Given the description of an element on the screen output the (x, y) to click on. 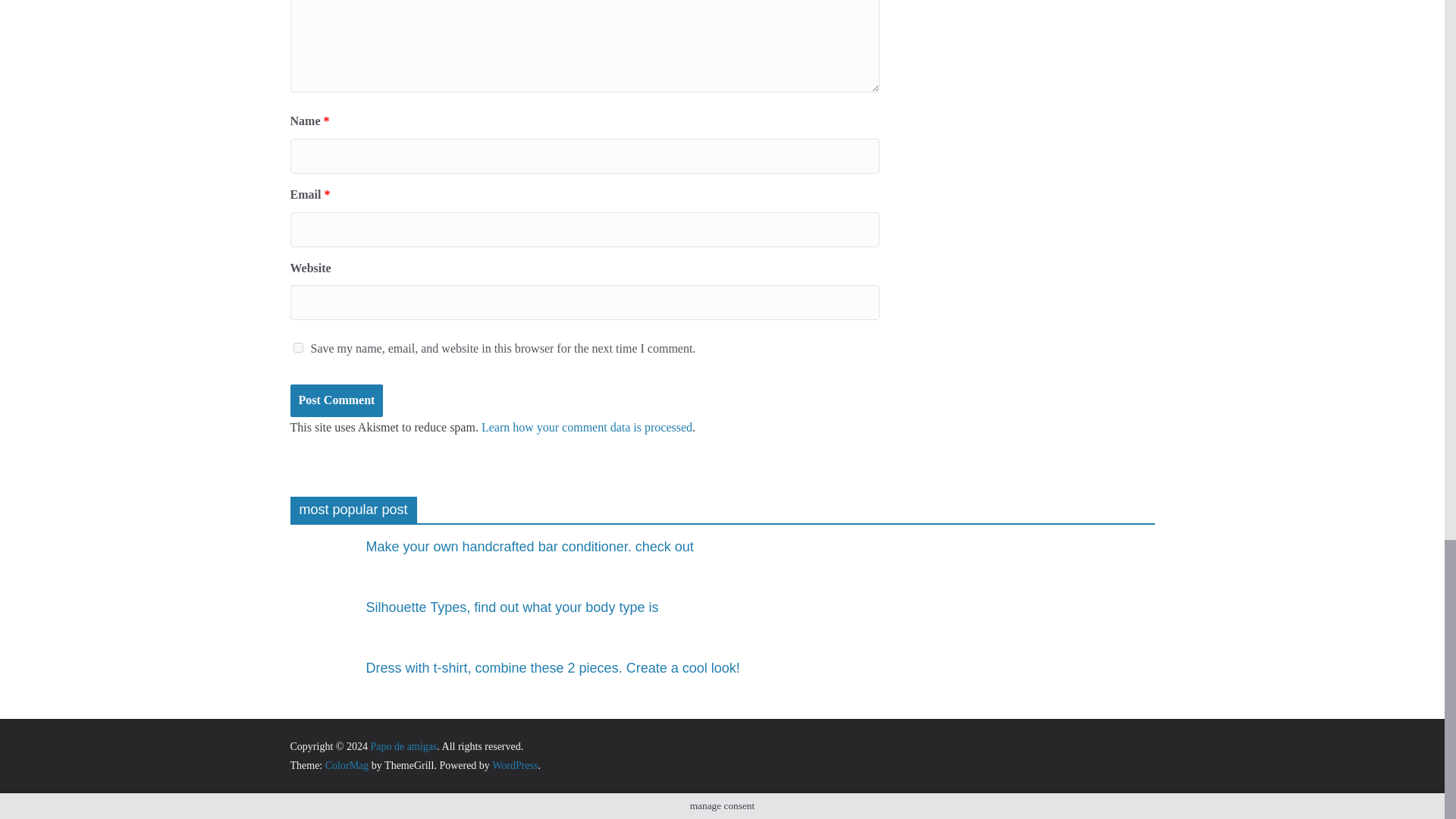
ColorMag (346, 765)
WordPress (514, 765)
yes (297, 347)
Post Comment (335, 400)
Make your own handcrafted bar conditioner. check out (319, 567)
Papo de amigas (402, 746)
Silhouette Types, find out what your body type is (319, 627)
Post Comment (335, 400)
Learn how your comment data is processed (587, 427)
